Given the description of an element on the screen output the (x, y) to click on. 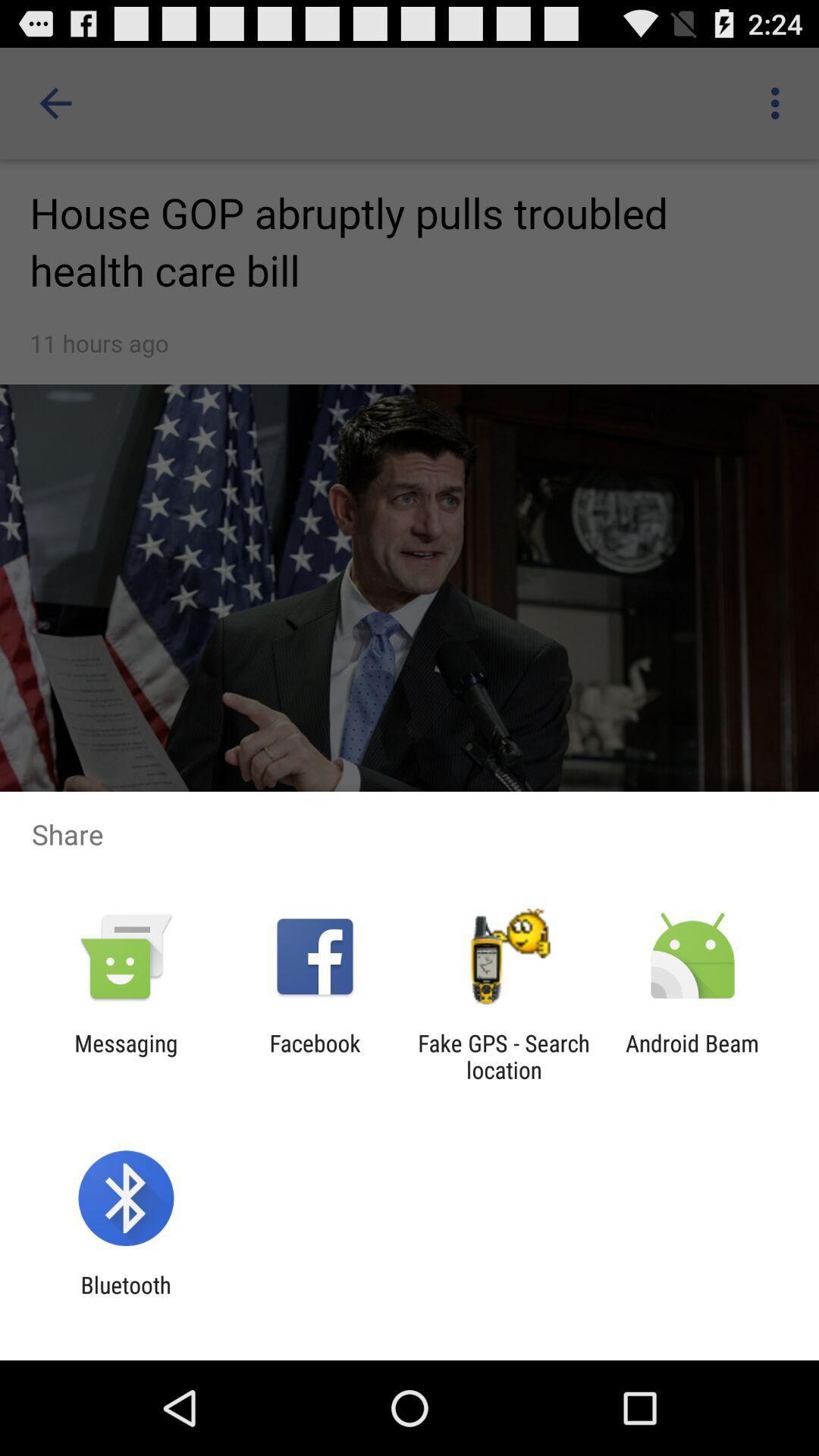
open the facebook icon (314, 1056)
